Given the description of an element on the screen output the (x, y) to click on. 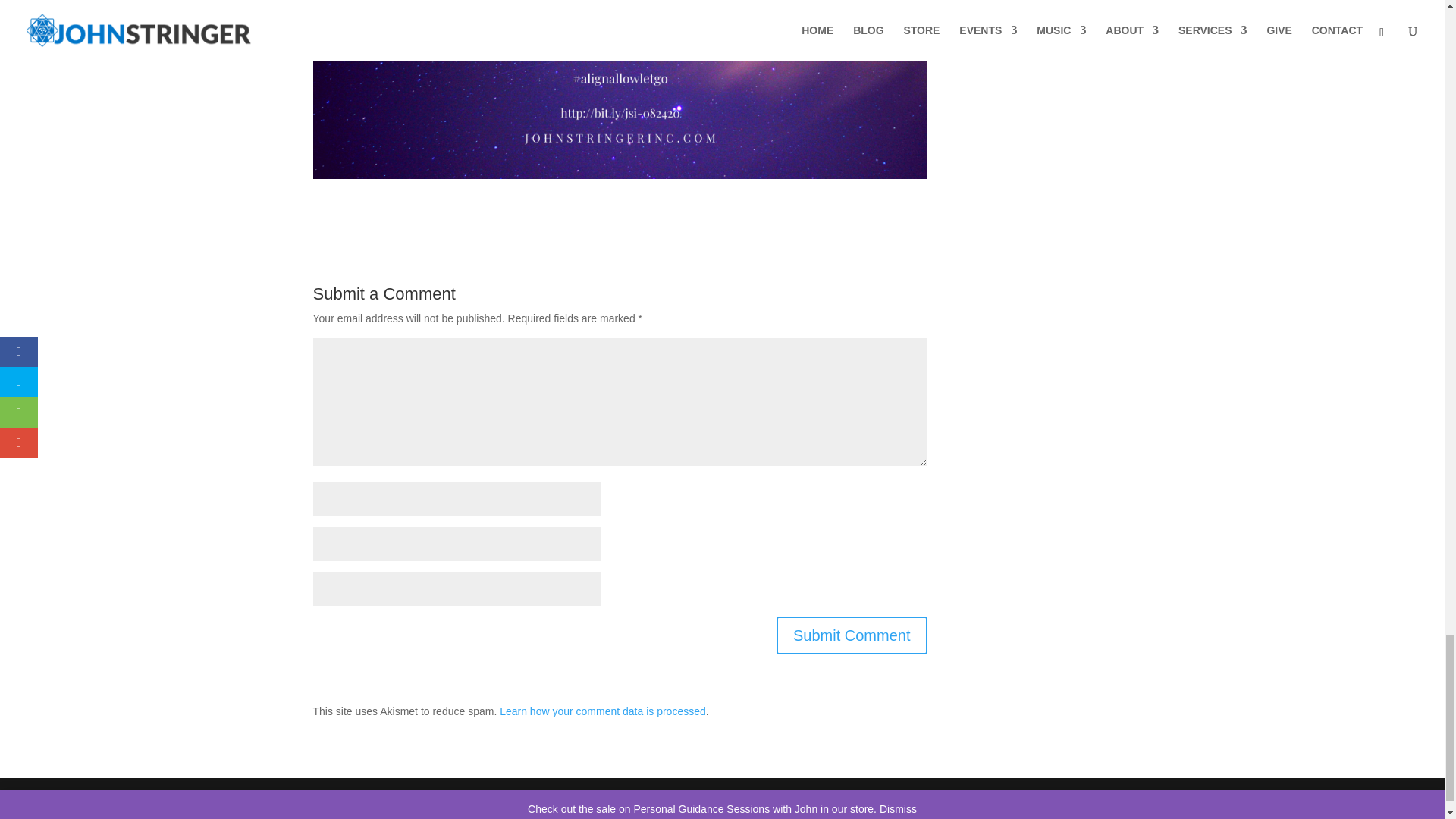
Submit Comment (851, 635)
